Given the description of an element on the screen output the (x, y) to click on. 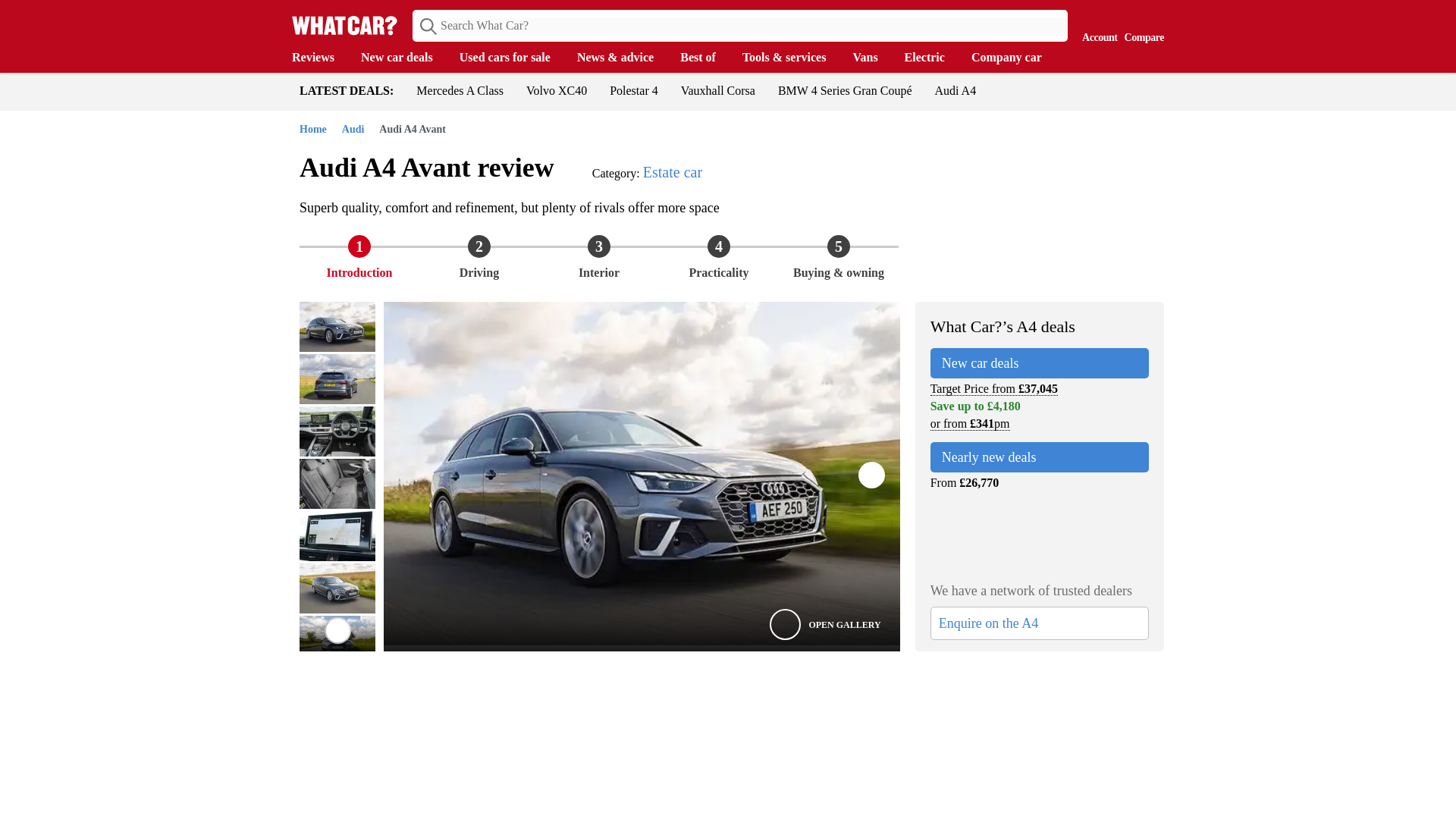
Company car (1014, 57)
Compare (1140, 24)
WhatCar? logo (344, 25)
Reviews (320, 57)
Best of (704, 57)
New car deals (404, 57)
Electric (931, 57)
Account (1095, 24)
Used cars for sale (513, 57)
Vans (871, 57)
